Given the description of an element on the screen output the (x, y) to click on. 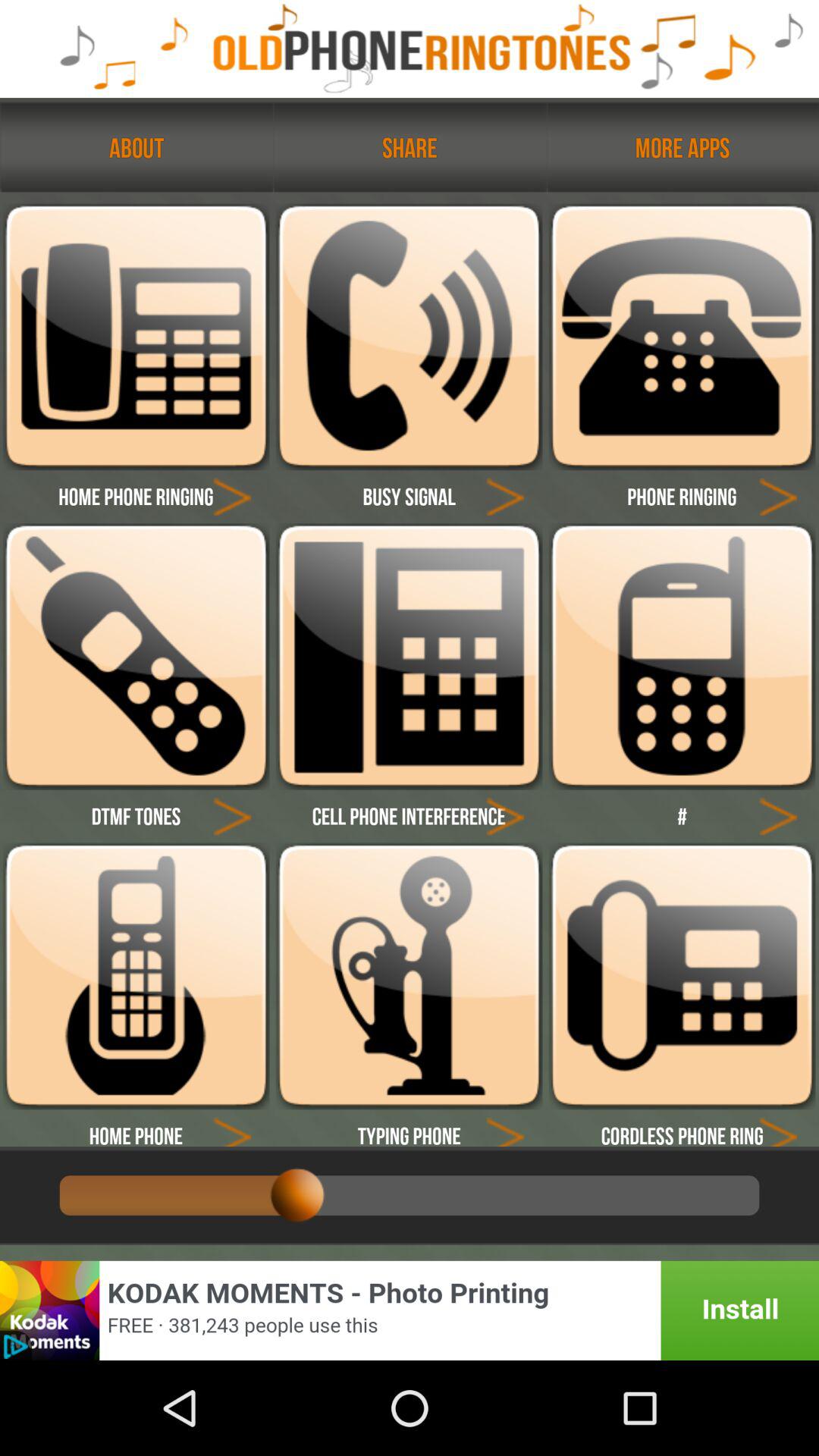
click button (232, 815)
